Given the description of an element on the screen output the (x, y) to click on. 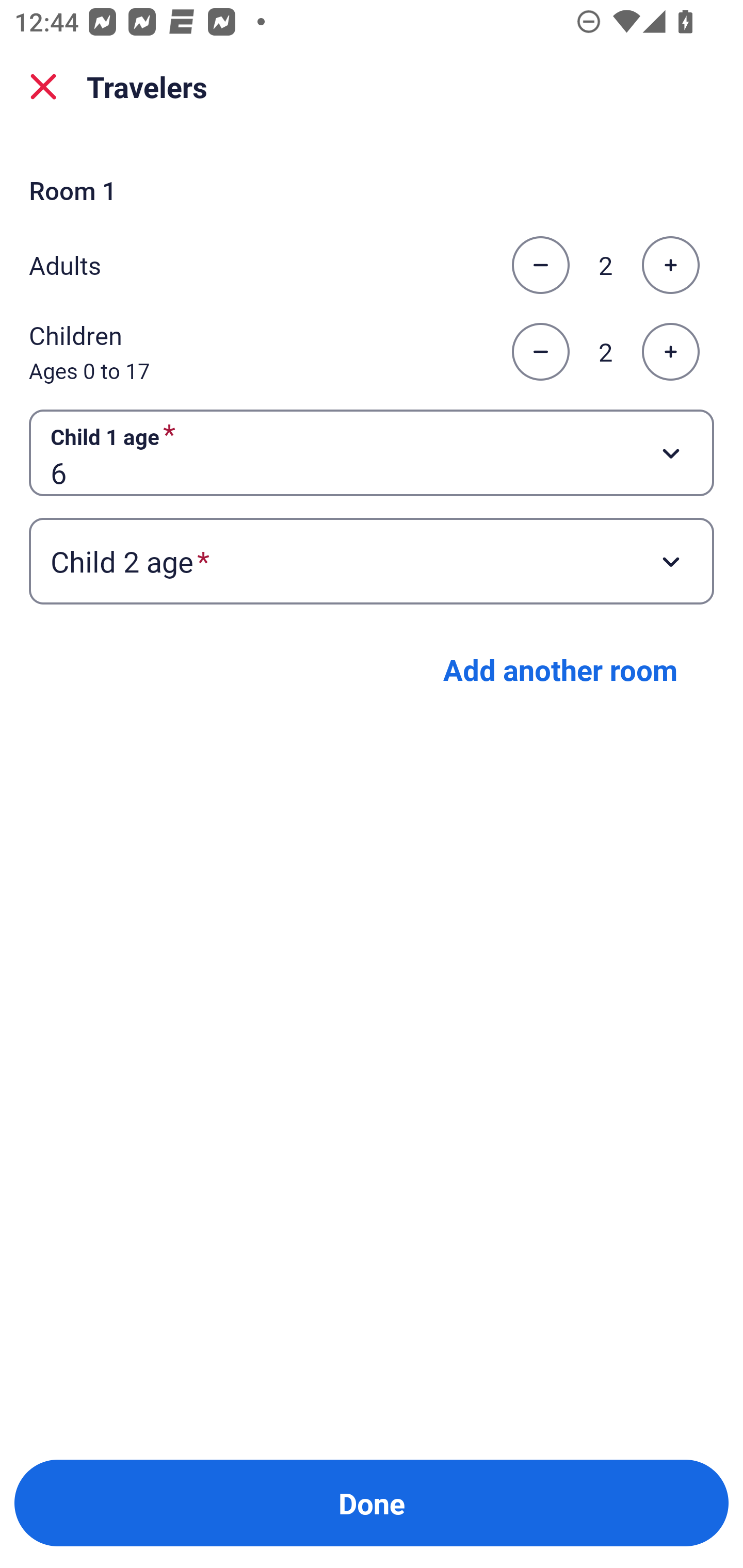
close (43, 86)
Decrease the number of adults (540, 264)
Increase the number of adults (670, 264)
Decrease the number of children (540, 351)
Increase the number of children (670, 351)
Child 1 age required Button 6 (371, 452)
Child 2 age required Button (371, 561)
Add another room (560, 669)
Done (371, 1502)
